Given the description of an element on the screen output the (x, y) to click on. 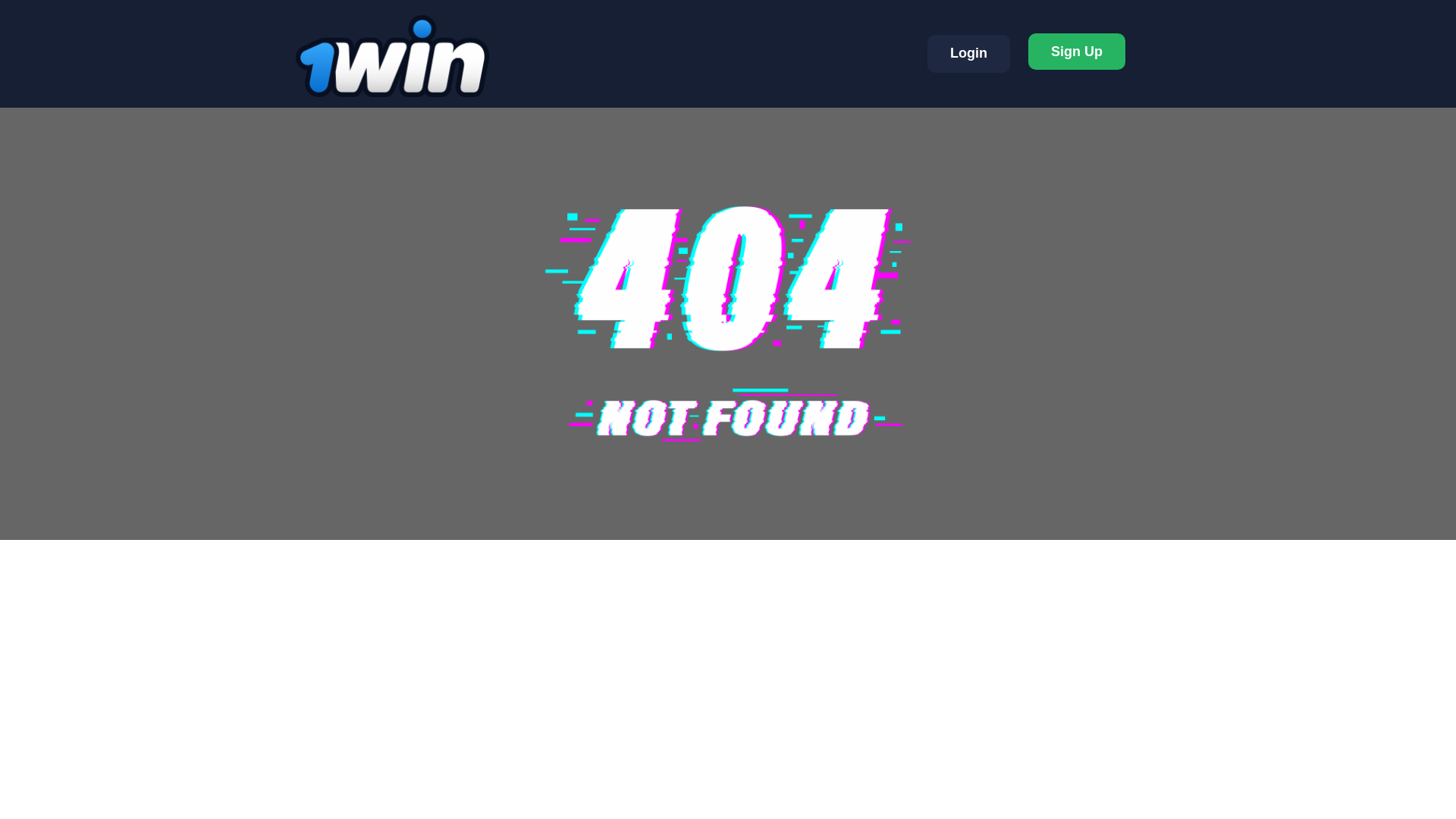
1win (392, 56)
Login (968, 53)
goto (968, 53)
goto (1076, 51)
Sign Up (1076, 51)
